Given the description of an element on the screen output the (x, y) to click on. 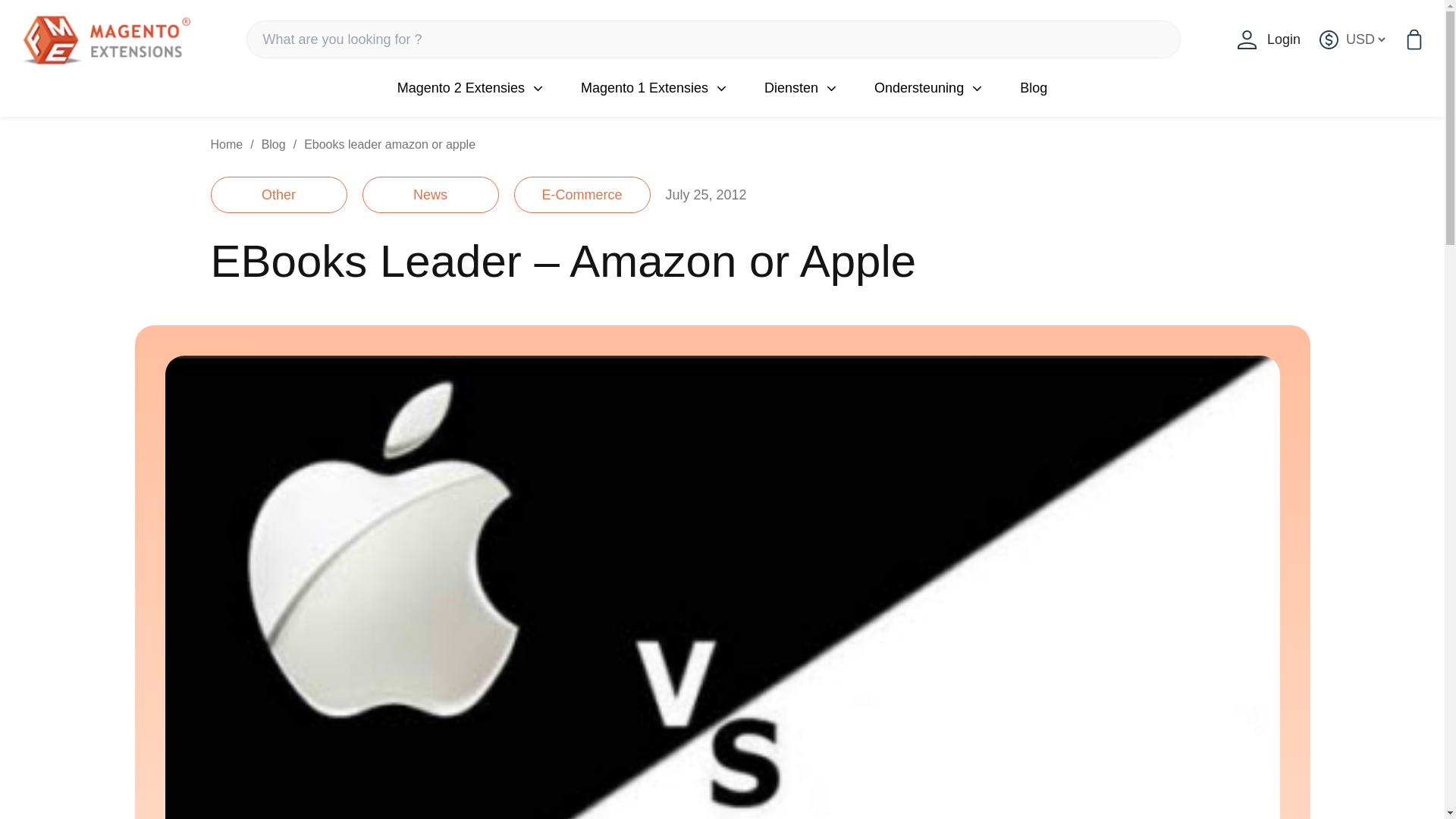
Ondersteuning (919, 87)
Other (279, 194)
Home (227, 144)
Magento 2 Extensies (460, 87)
Login (1268, 39)
Blog (273, 144)
E-Commerce (581, 194)
Diensten (791, 87)
Blog (1033, 87)
Ebooks leader amazon or apple (390, 144)
